Given the description of an element on the screen output the (x, y) to click on. 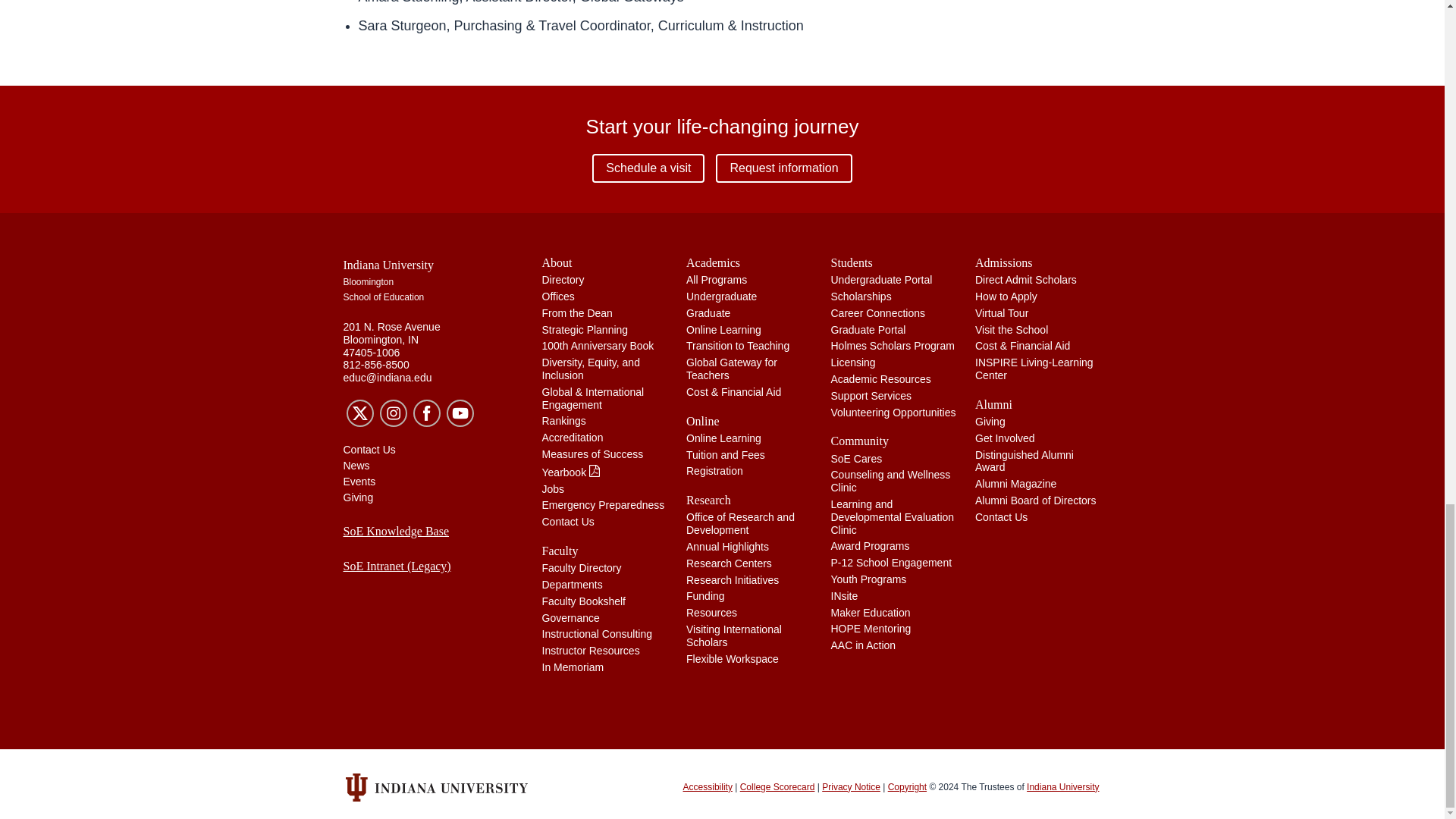
Offices (557, 296)
Directory (562, 279)
Request information (783, 167)
Faculty Directory (581, 567)
About (604, 262)
Accreditation (571, 437)
Jobs (552, 489)
Faculty (604, 550)
Diversity, Equity, and Inclusion (590, 368)
Yearbook (571, 472)
Schedule a campus visit (648, 167)
Emergency Preparedness (602, 504)
Measures of Success (592, 453)
Rankings (563, 420)
100th Anniversary Book (597, 345)
